Given the description of an element on the screen output the (x, y) to click on. 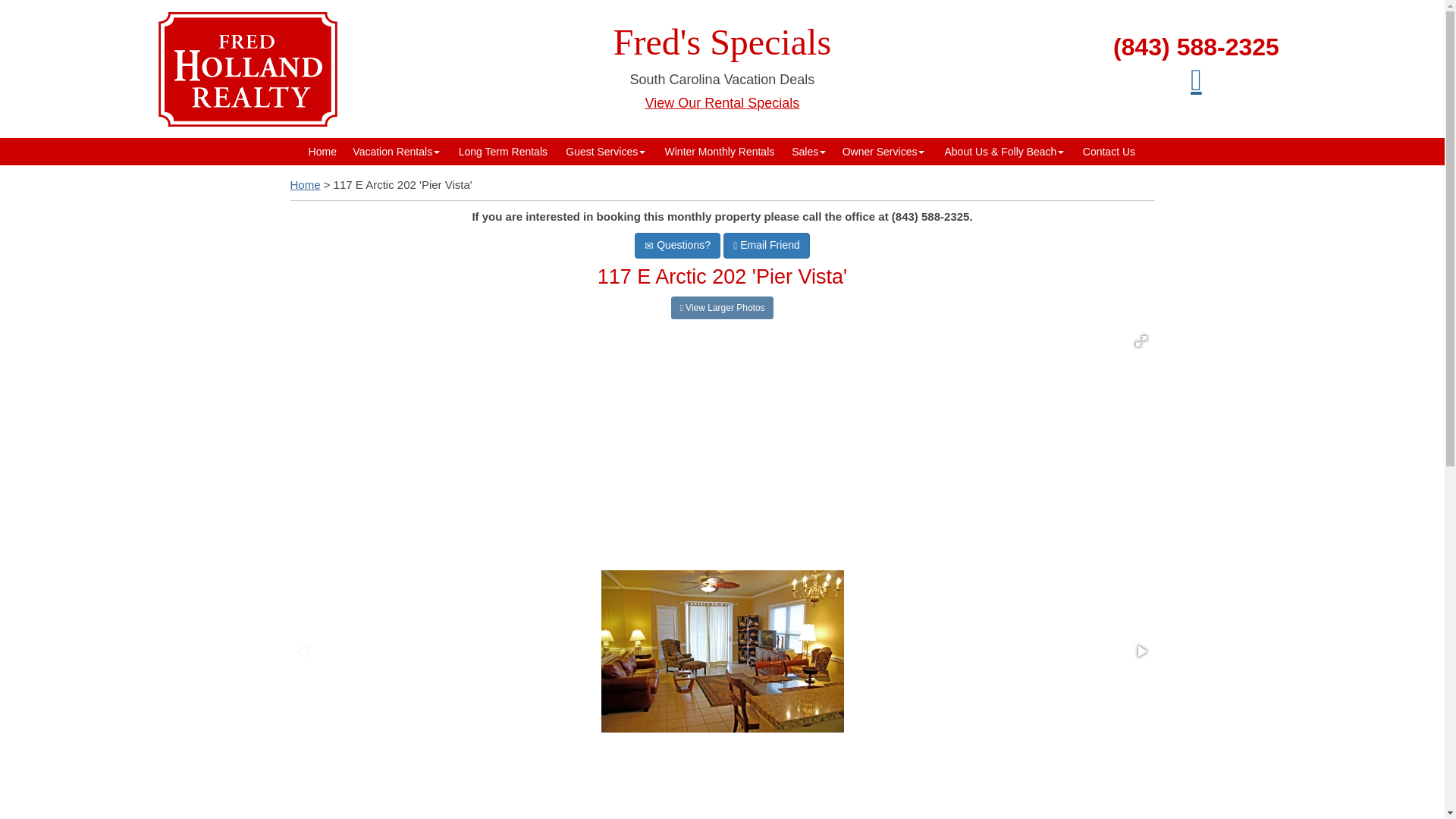
Guest Services (604, 151)
Winter Monthly Rentals (718, 151)
Questions? (677, 245)
Home (322, 151)
View Our Rental Specials (722, 102)
Sales (808, 151)
Home (304, 184)
Email Friend (766, 245)
Contact Us (1108, 151)
Owner Services (883, 151)
Long Term Rentals (502, 151)
Vacation Rentals (395, 151)
